Given the description of an element on the screen output the (x, y) to click on. 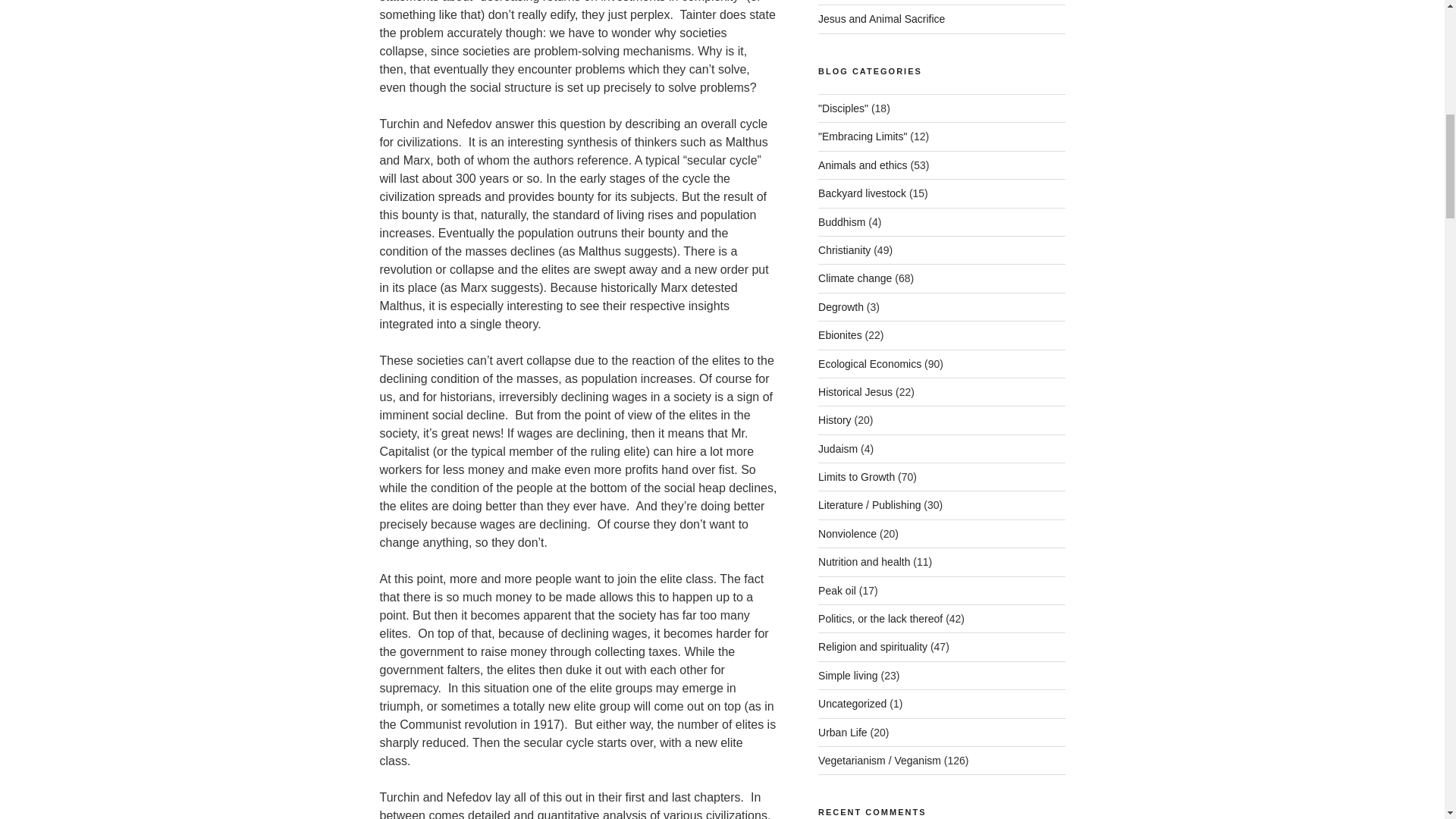
"Embracing Limits" (862, 136)
"Disciples" (842, 108)
Jesus and Animal Sacrifice (881, 19)
Animals and ethics (862, 164)
